Given the description of an element on the screen output the (x, y) to click on. 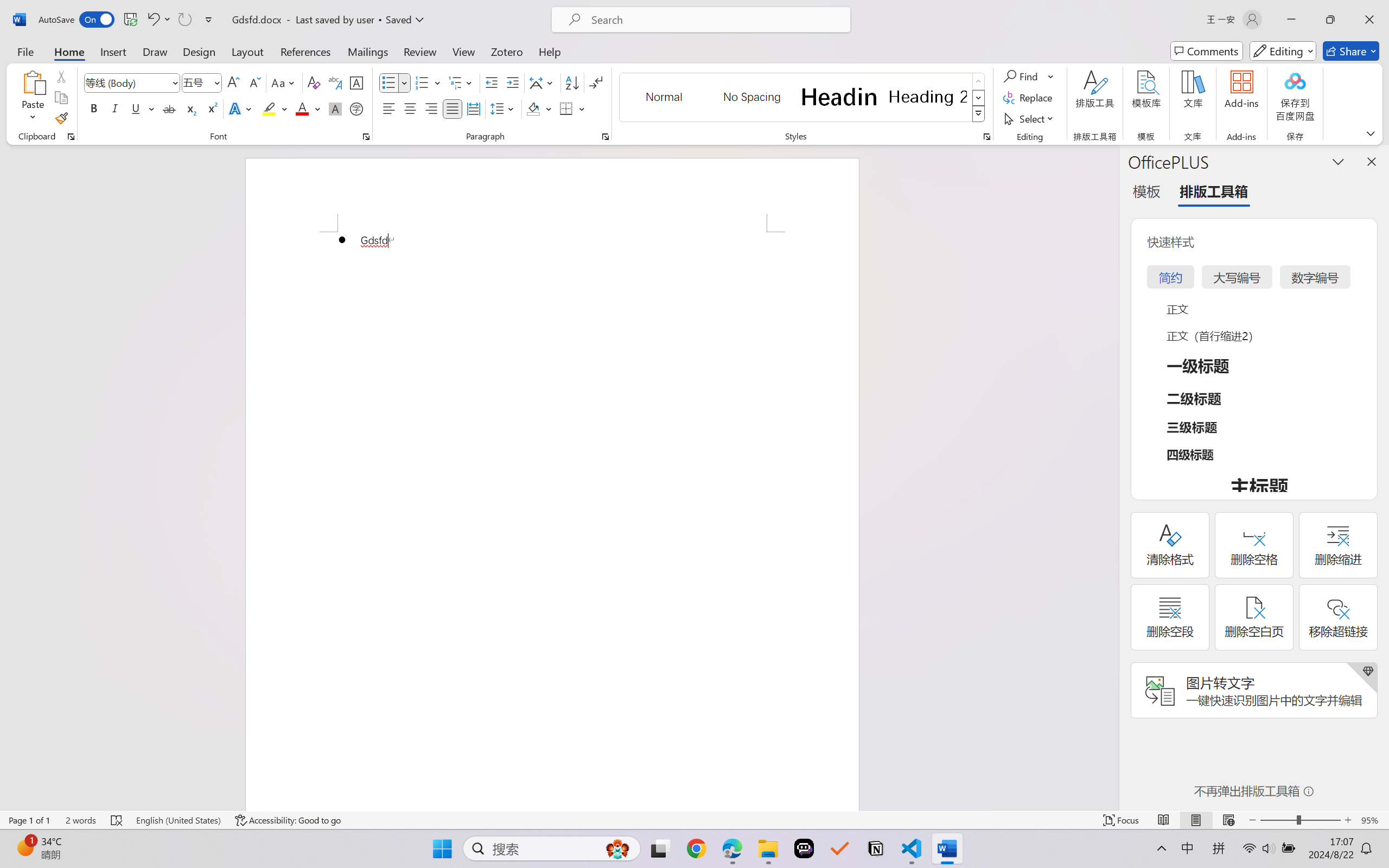
Class: MsoCommandBar (694, 819)
Can't Repeat (184, 19)
Font Color Red (302, 108)
Zoom 95% (1372, 819)
